Given the description of an element on the screen output the (x, y) to click on. 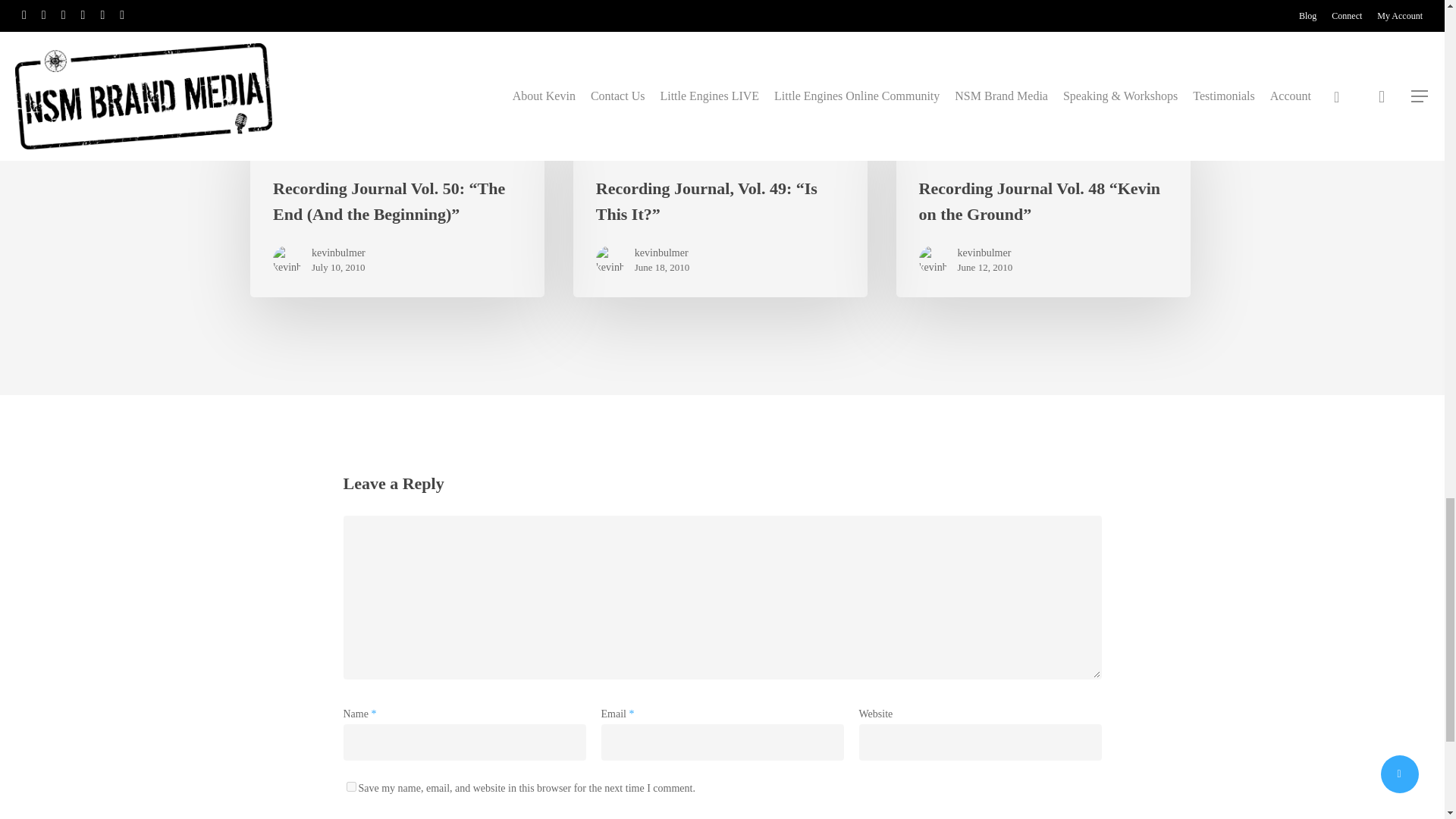
yes (350, 786)
